Given the description of an element on the screen output the (x, y) to click on. 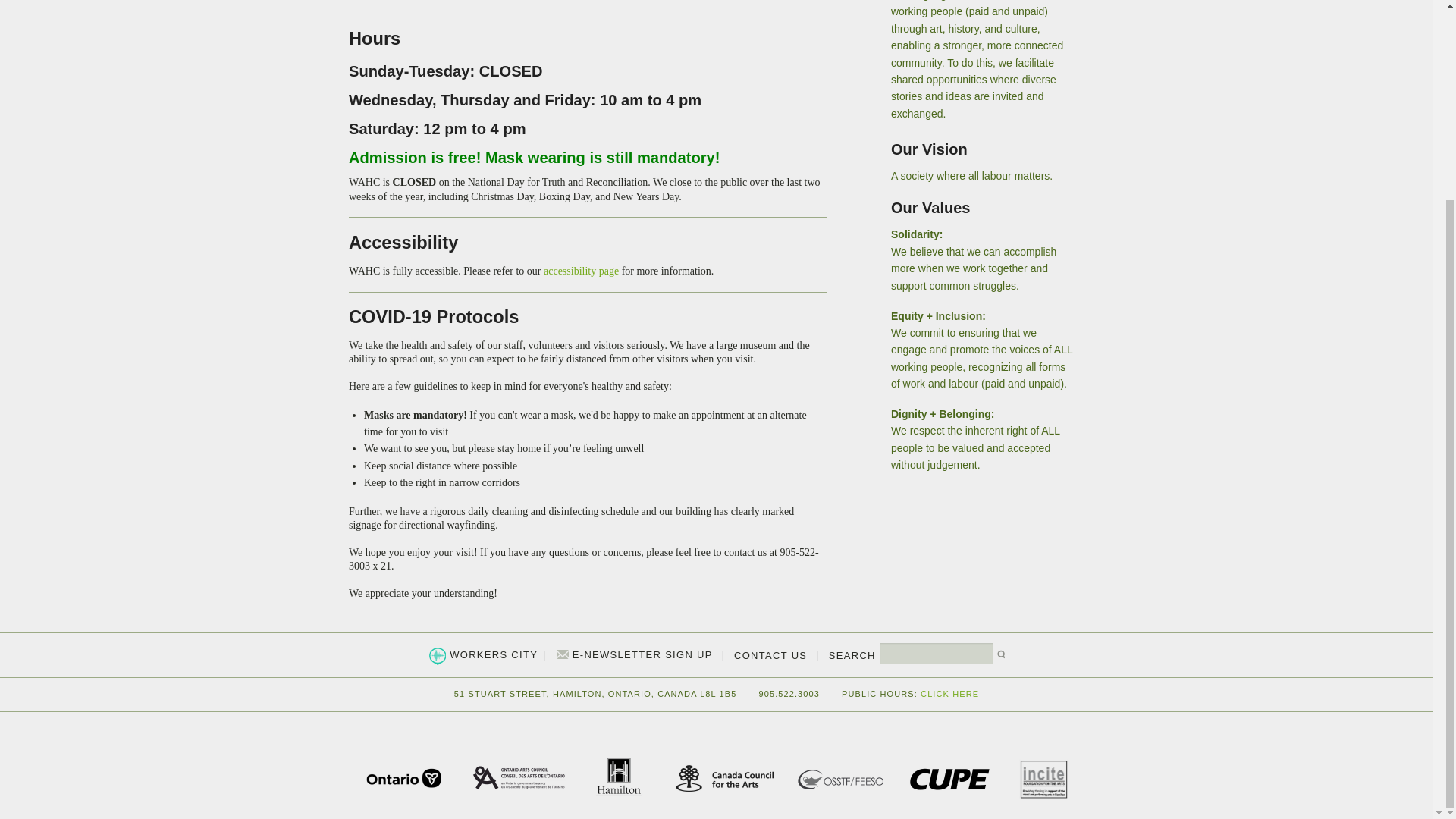
accessibility page (580, 270)
WORKERS CITY (491, 654)
